Given the description of an element on the screen output the (x, y) to click on. 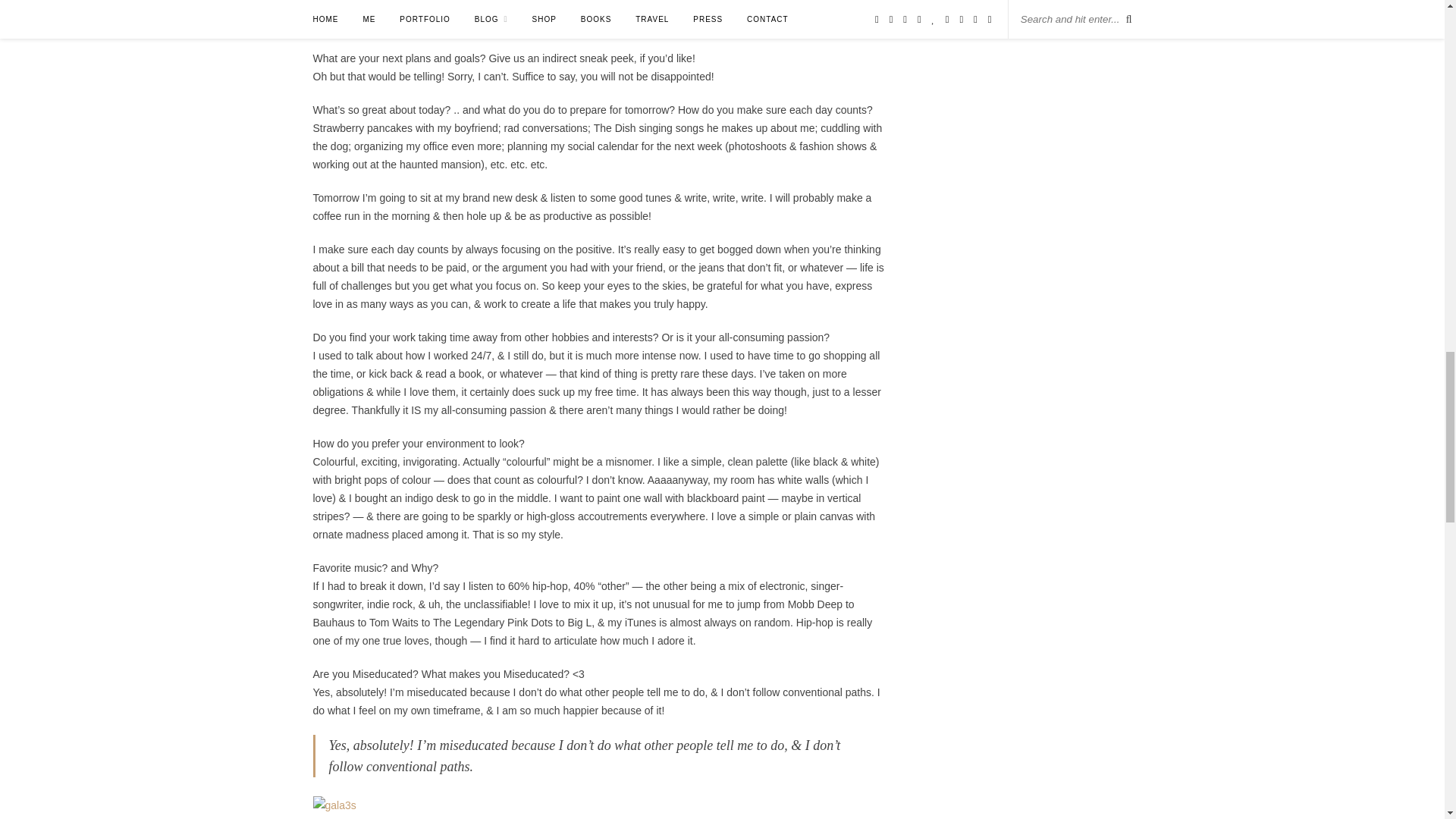
gala3s (334, 805)
